Given the description of an element on the screen output the (x, y) to click on. 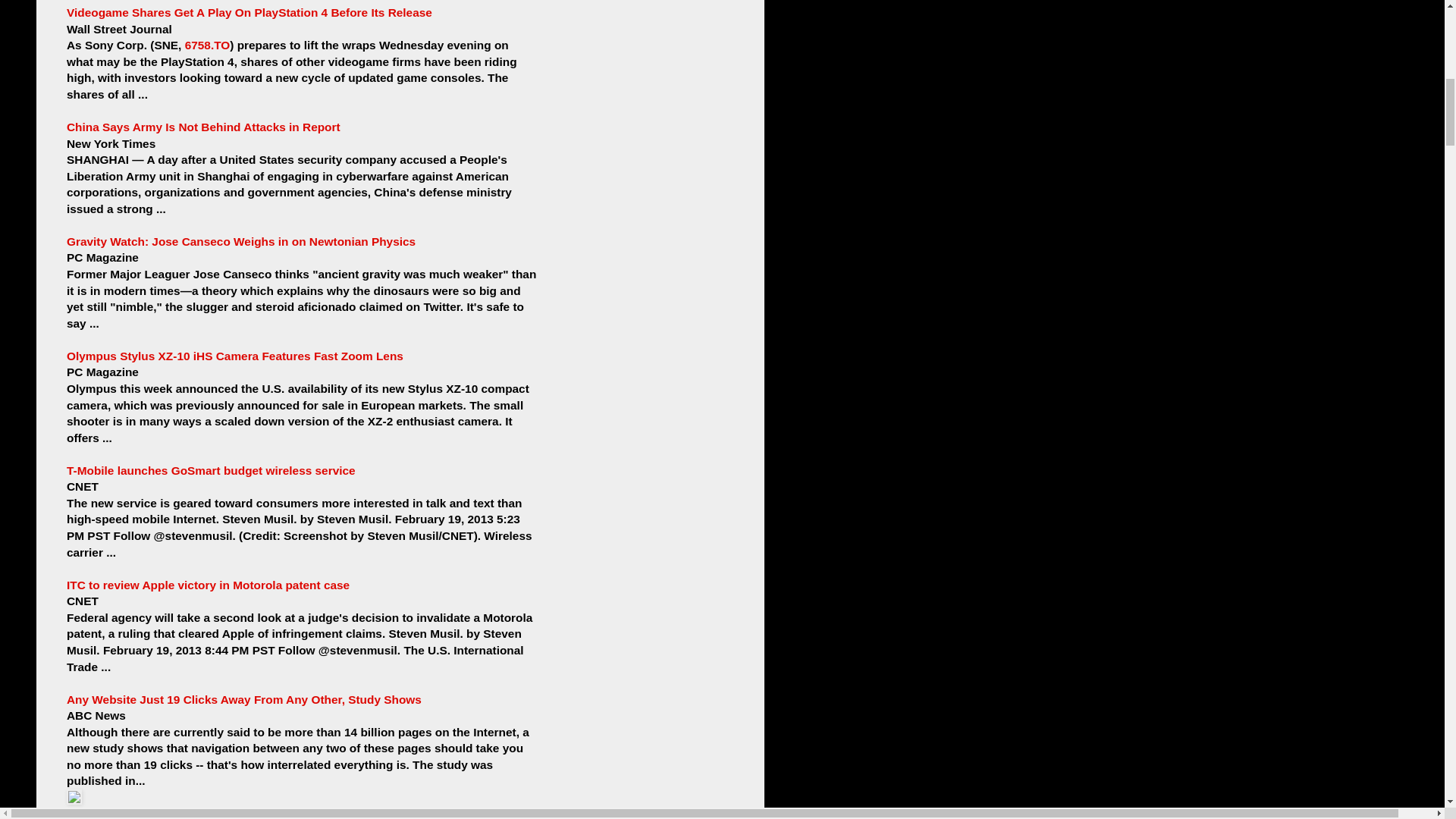
Any Website Just 19 Clicks Away From Any Other, Study Shows (244, 698)
ITC to review Apple victory in Motorola patent case (207, 584)
6758.TO (207, 44)
Gravity Watch: Jose Canseco Weighs in on Newtonian Physics (240, 241)
Olympus Stylus XZ-10 iHS Camera Features Fast Zoom Lens (234, 355)
China Says Army Is Not Behind Attacks in Report (203, 126)
T-Mobile launches GoSmart budget wireless service (210, 470)
